Given the description of an element on the screen output the (x, y) to click on. 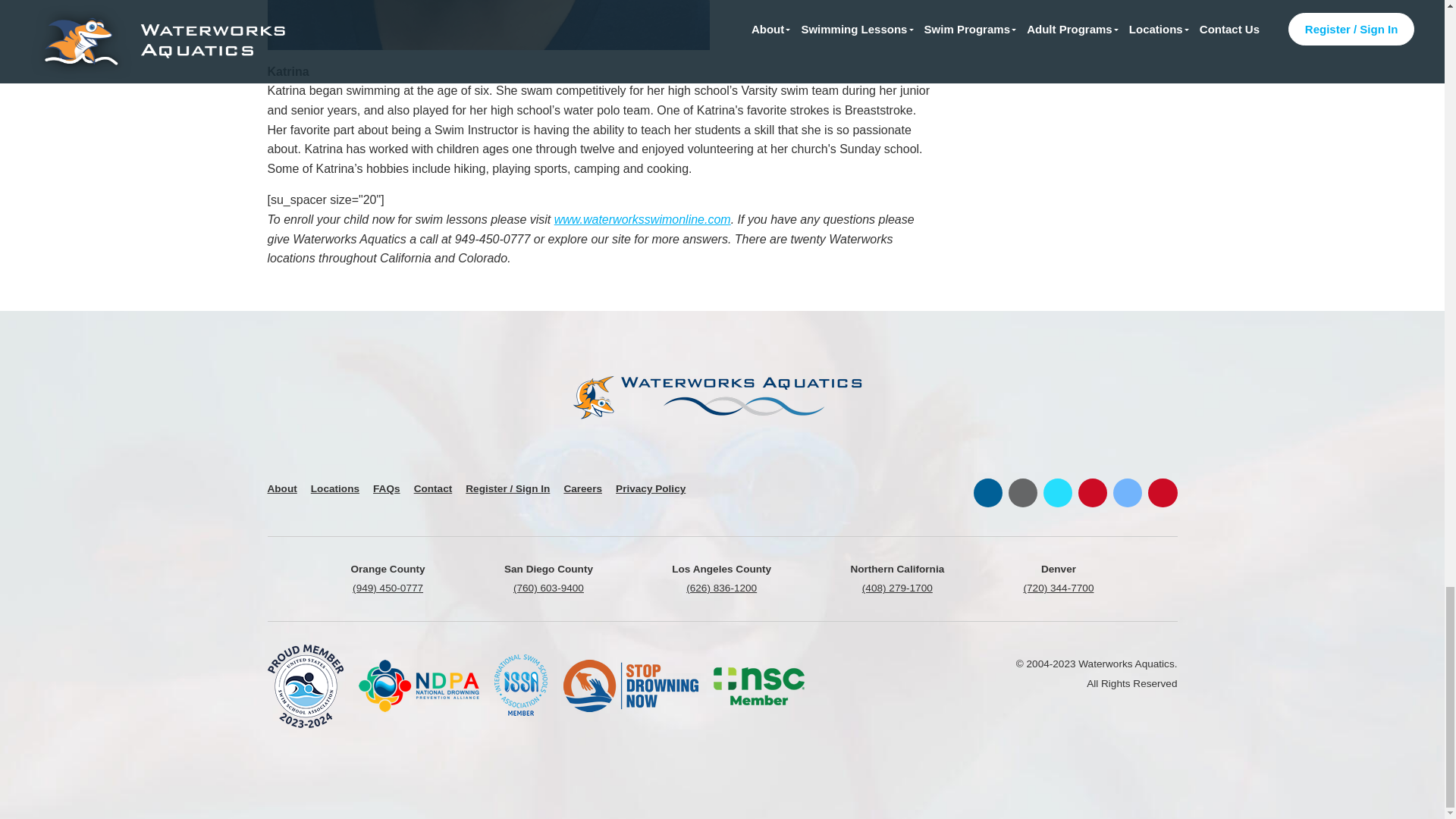
YouTube (1162, 492)
Yelp (1092, 492)
Instagram (1022, 492)
Facebook (1127, 492)
LinkedIn (988, 492)
Twitter (1057, 492)
